Given the description of an element on the screen output the (x, y) to click on. 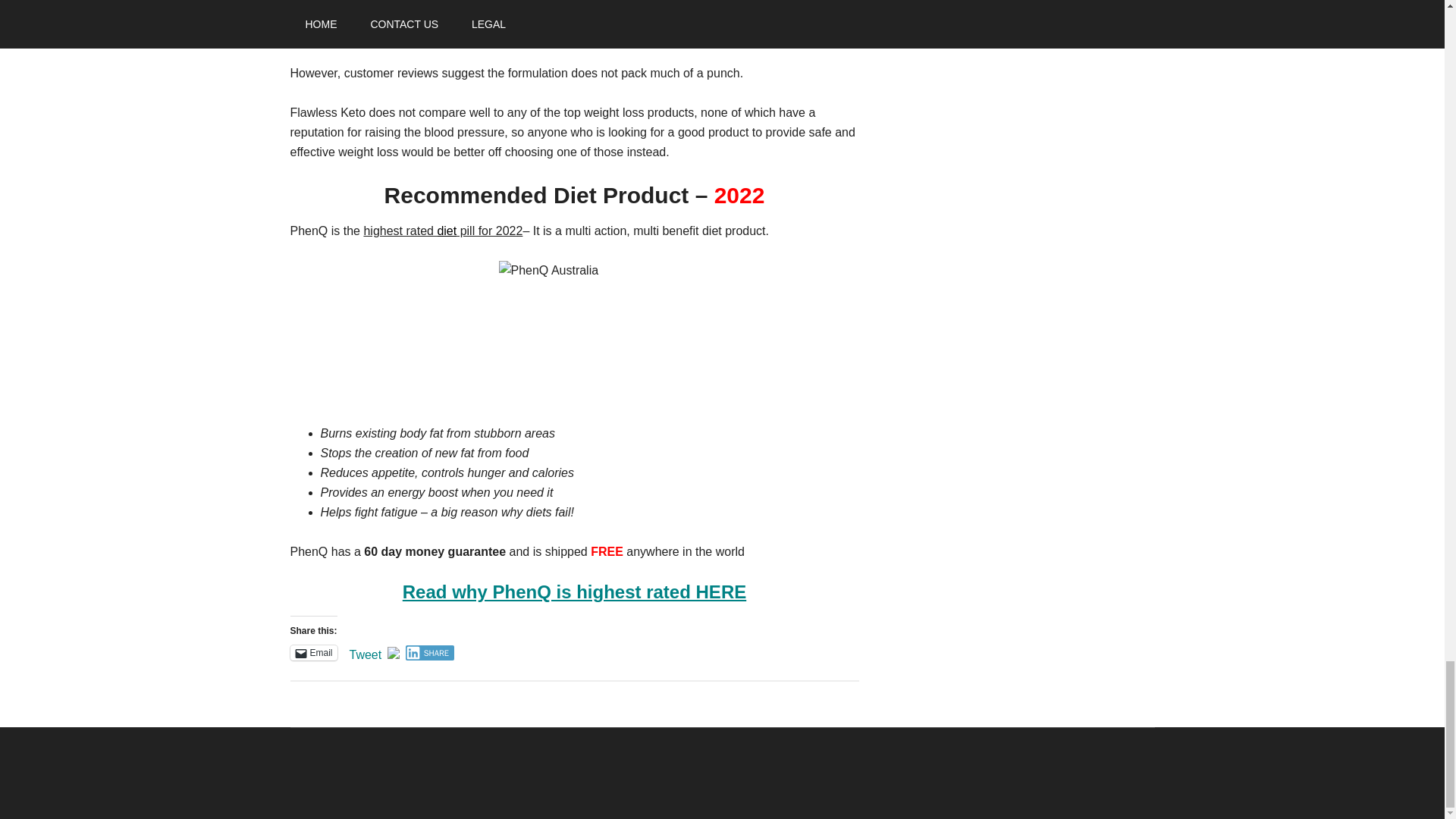
SHARE (430, 652)
Read why PhenQ is highest rated HERE (574, 591)
Email (312, 652)
Click to email a link to a friend (312, 652)
Tweet (365, 652)
